Given the description of an element on the screen output the (x, y) to click on. 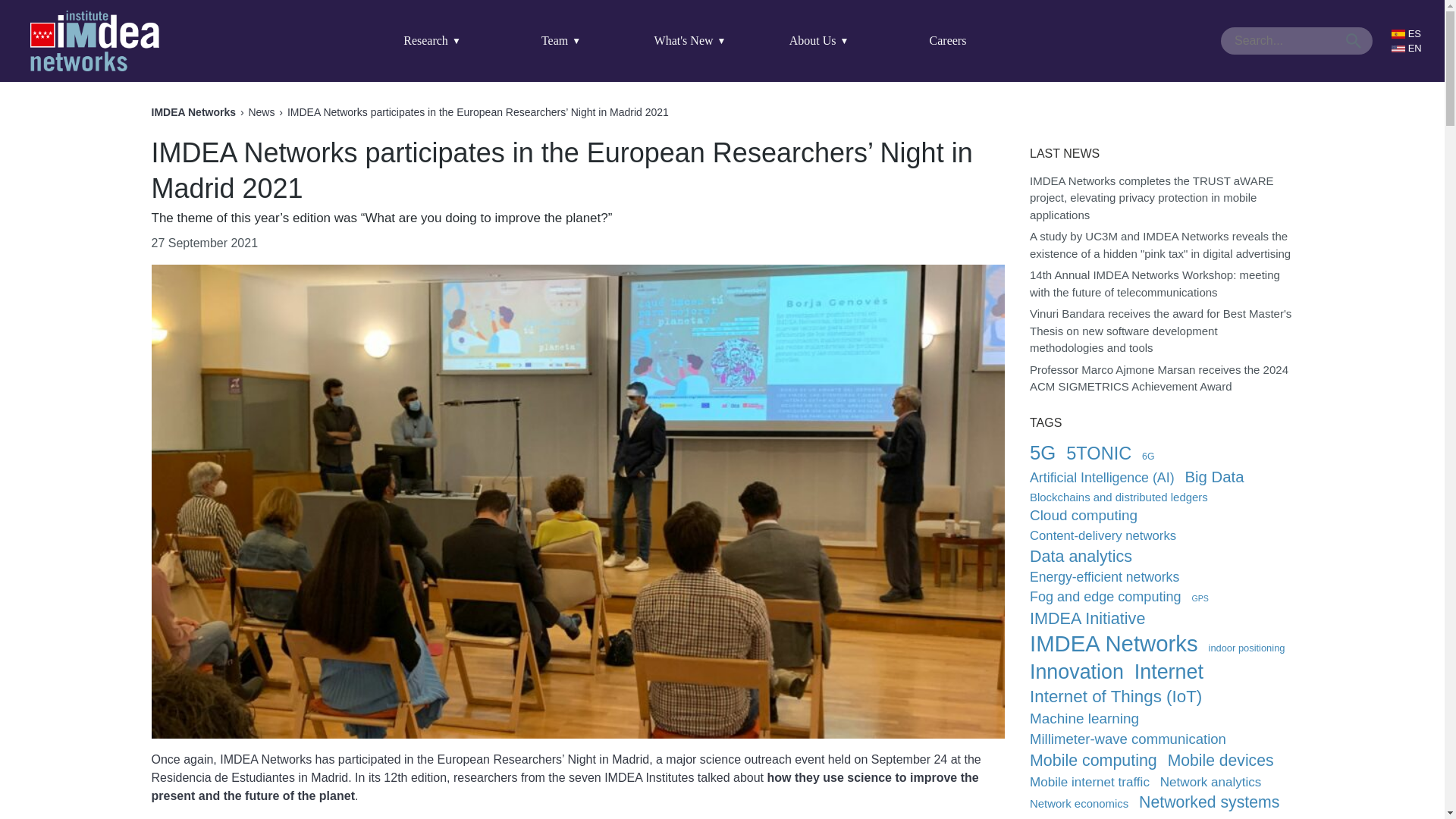
IMDEA Networks (94, 40)
English (1410, 48)
Careers (947, 41)
ES (1410, 32)
EN (1410, 48)
